Given the description of an element on the screen output the (x, y) to click on. 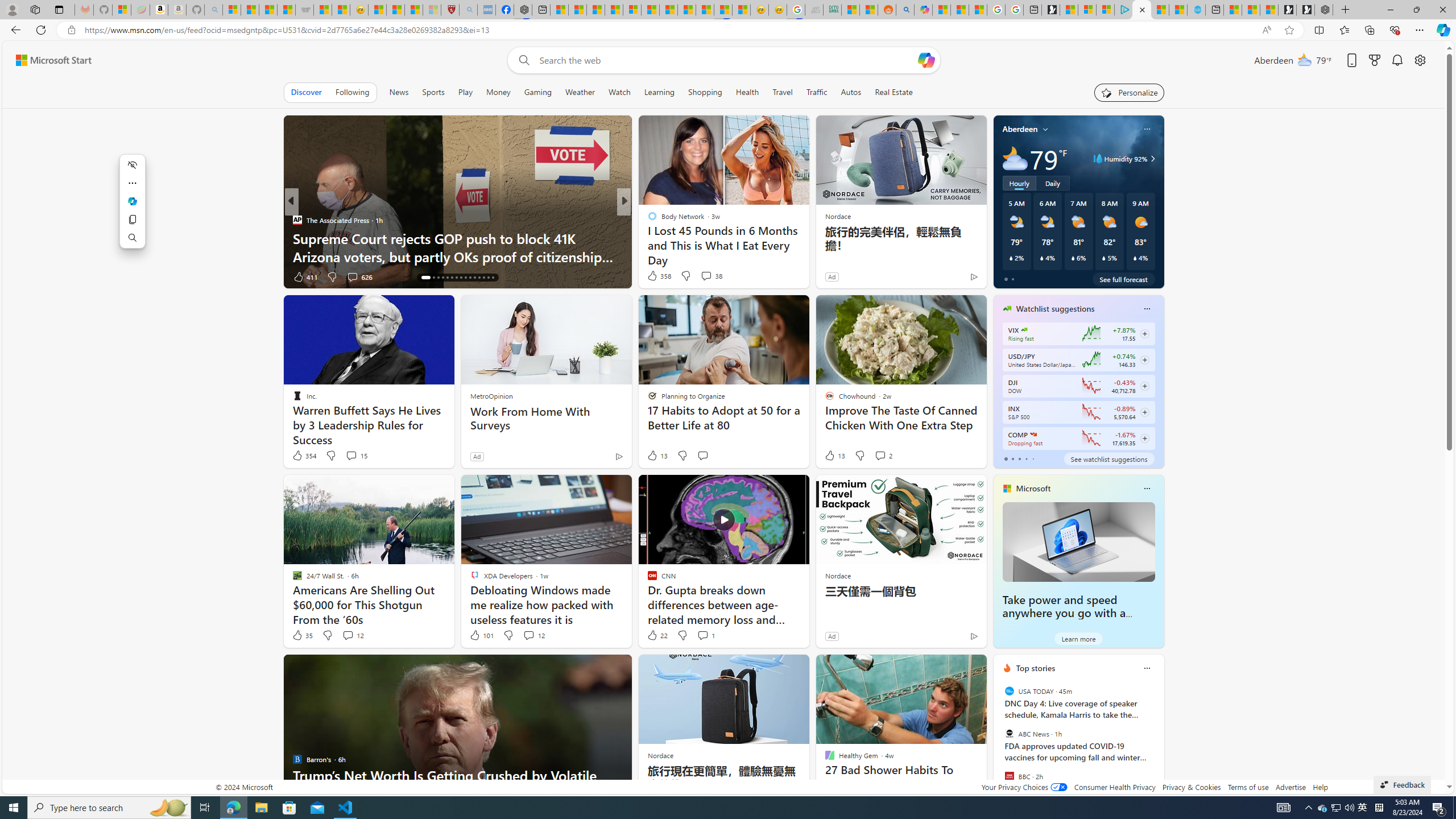
View comments 66 Comment (703, 276)
oceanbluemarine (668, 238)
Humidity 92% (1150, 158)
876 Like (654, 276)
2 Like (651, 276)
View comments 66 Comment (707, 276)
